Given the description of an element on the screen output the (x, y) to click on. 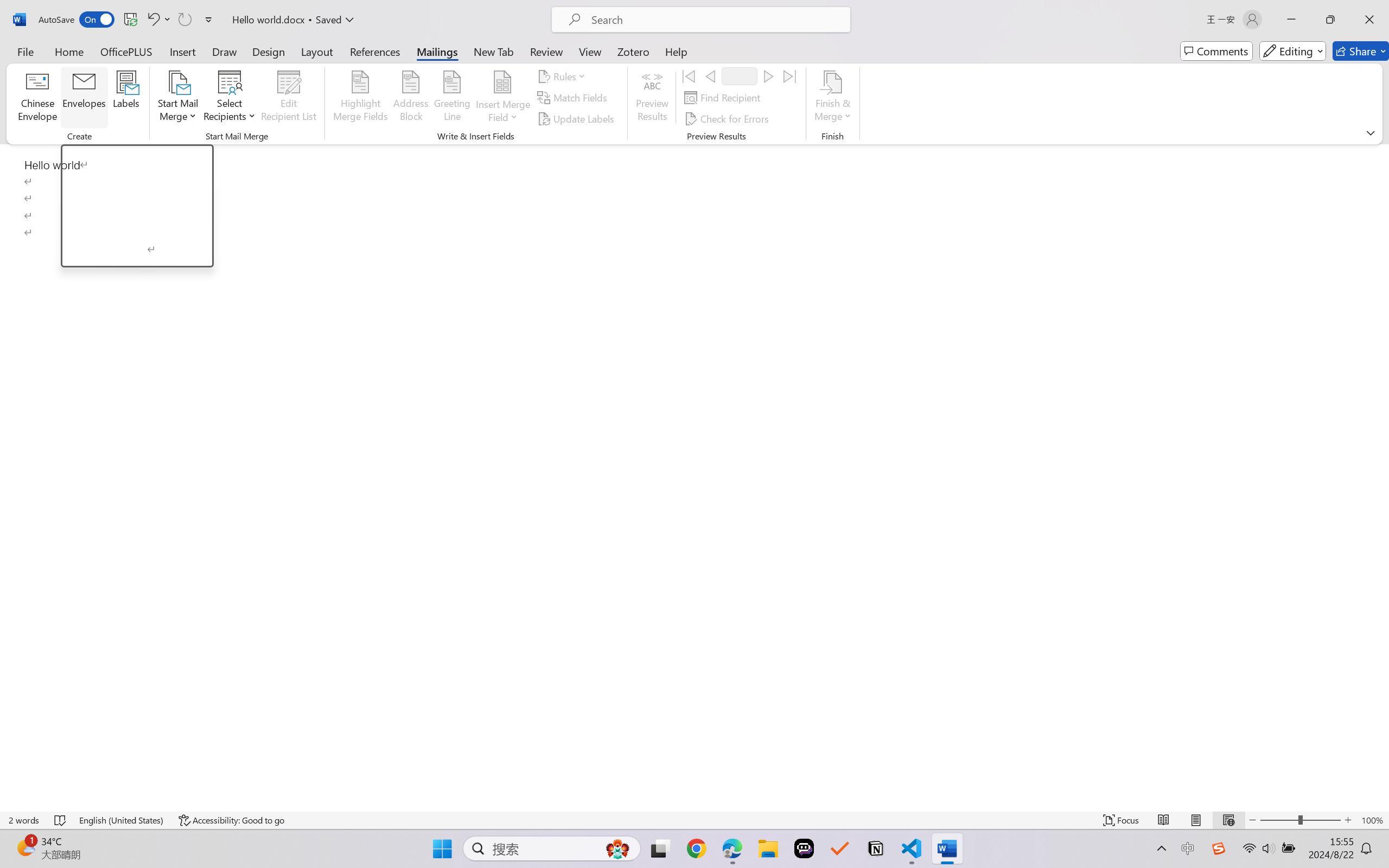
First (688, 75)
Language English (United States) (121, 819)
Close (1369, 19)
Minimize (1291, 19)
References (375, 51)
Insert Merge Field (502, 97)
Insert (182, 51)
Next (768, 75)
OfficePLUS (126, 51)
Greeting Line... (451, 97)
Rules (563, 75)
Zotero (632, 51)
New Tab (493, 51)
Zoom In (1348, 819)
Web Layout (1228, 819)
